Given the description of an element on the screen output the (x, y) to click on. 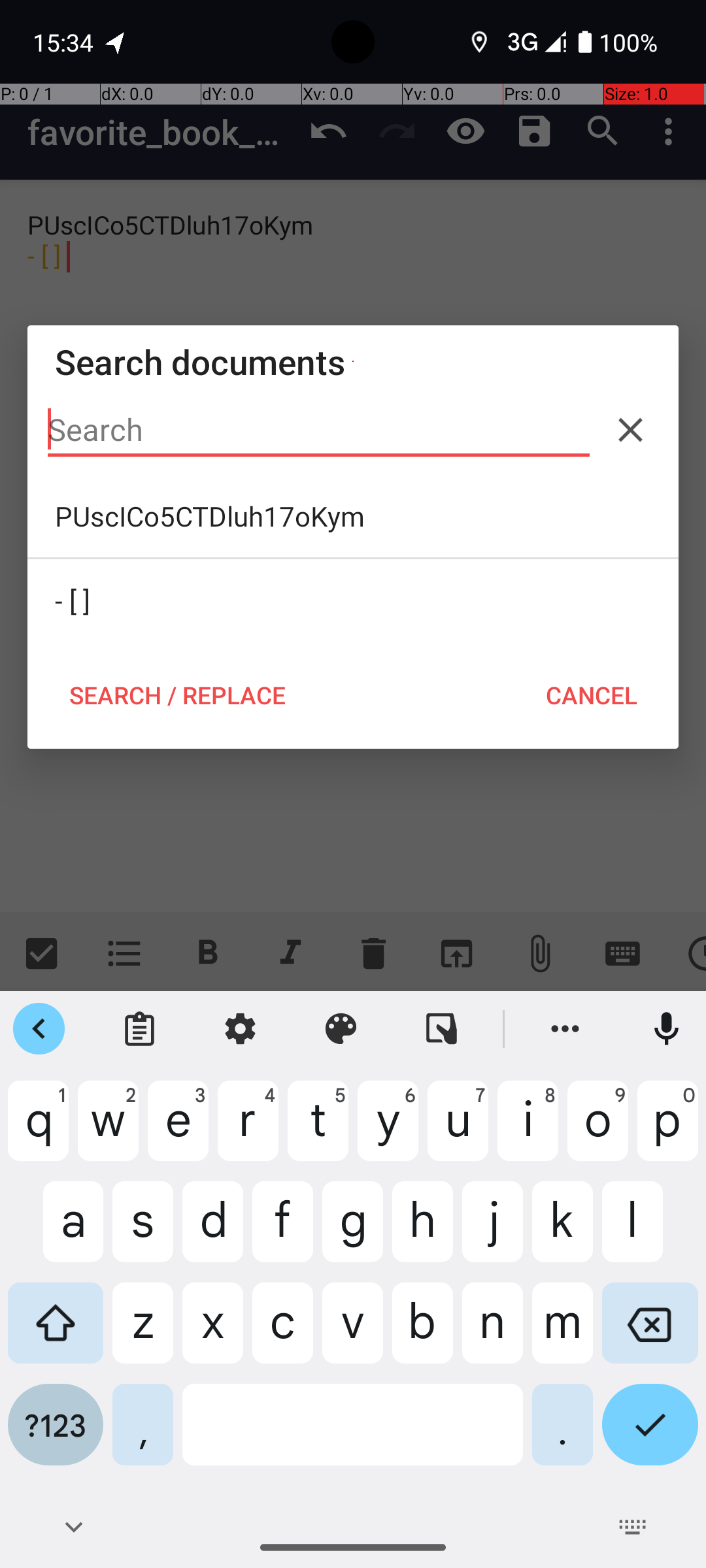
Search documents Element type: android.widget.TextView (352, 361)
PUscICo5CTDluh17oKym Element type: android.widget.TextView (352, 515)
- [ ]  Element type: android.widget.TextView (352, 600)
SEARCH / REPLACE Element type: android.widget.Button (176, 694)
